Given the description of an element on the screen output the (x, y) to click on. 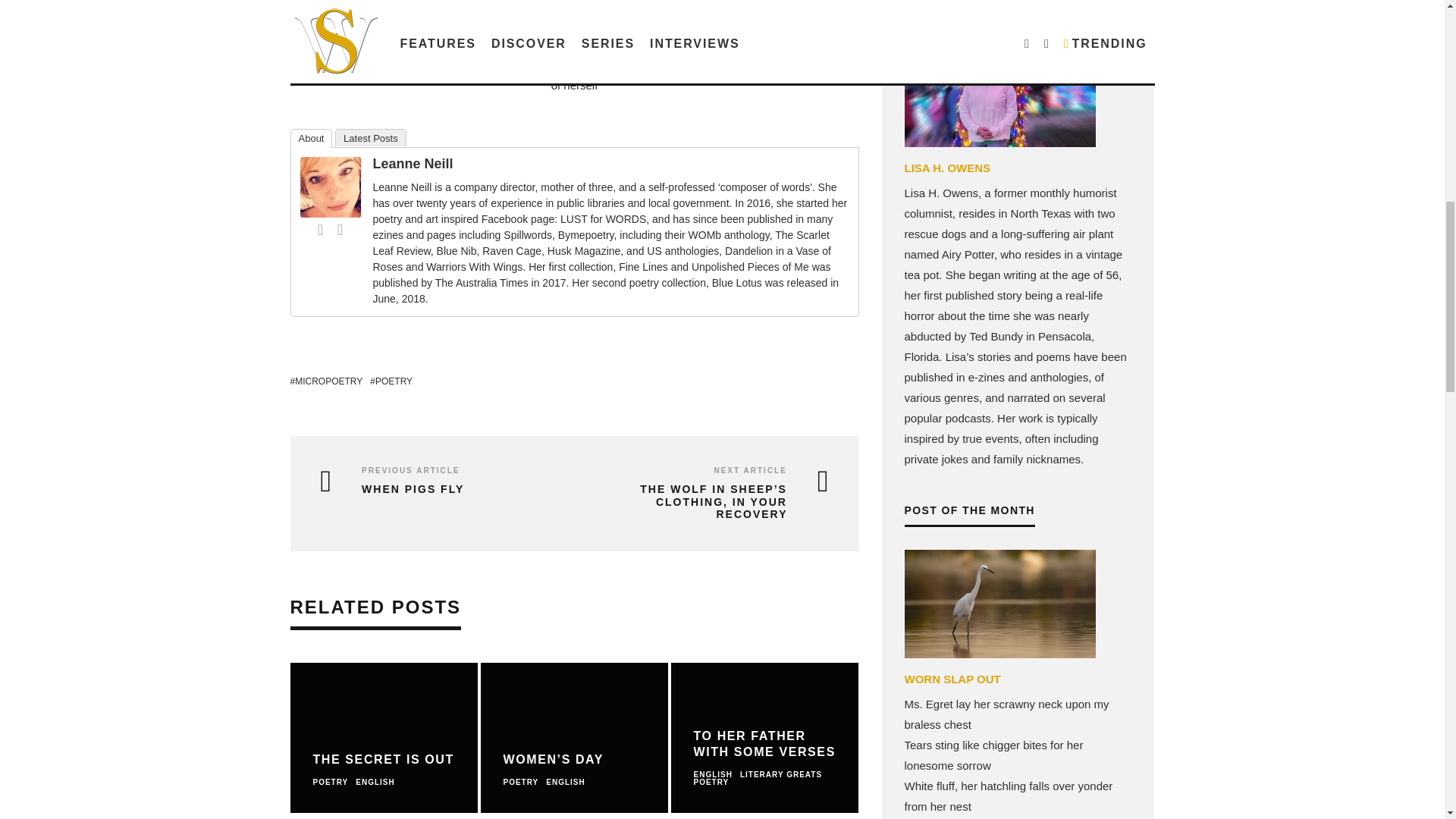
Facebook (320, 229)
Instagram (339, 229)
Leanne Neill (330, 213)
